Given the description of an element on the screen output the (x, y) to click on. 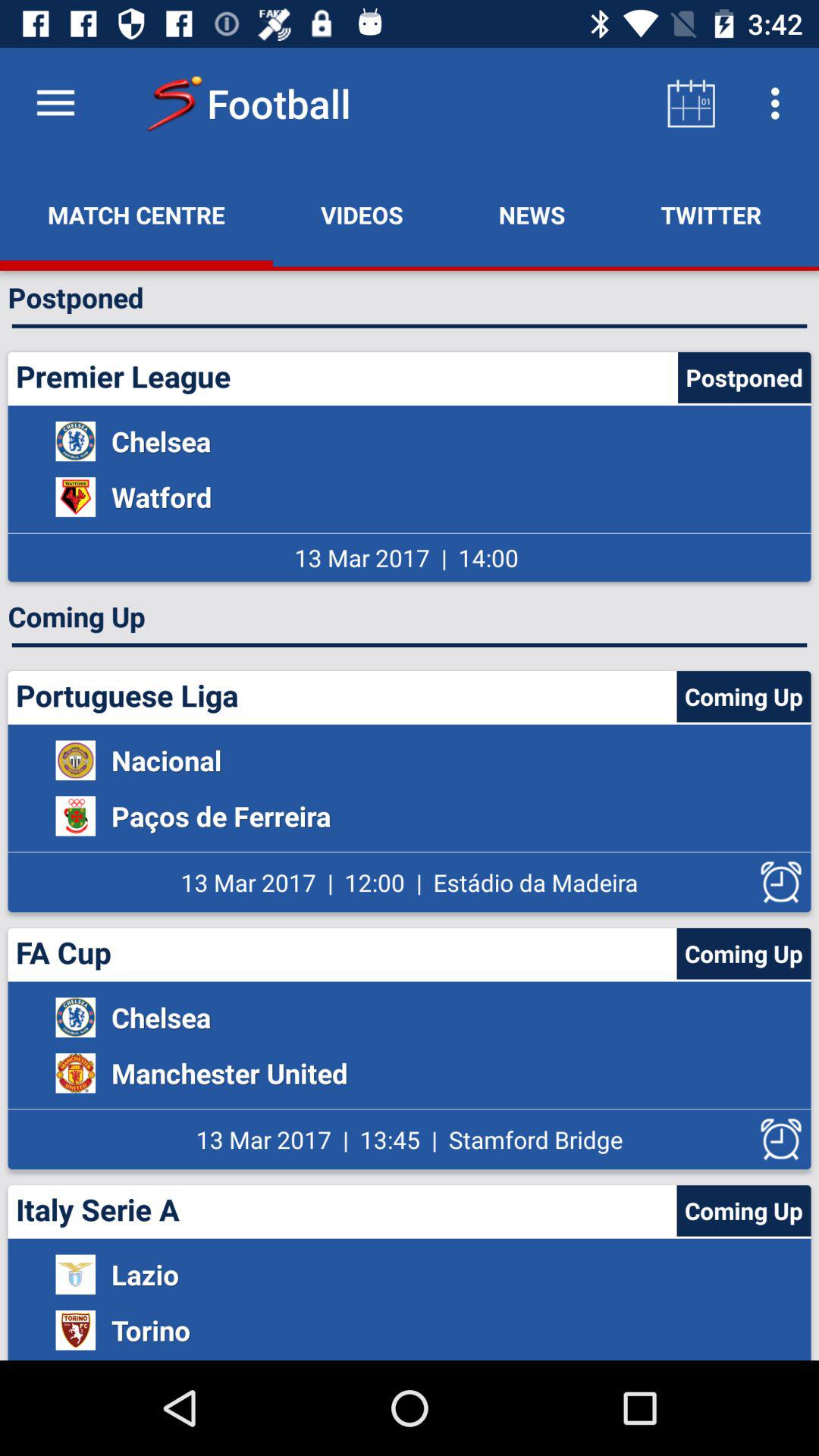
swipe to match centre icon (136, 214)
